Given the description of an element on the screen output the (x, y) to click on. 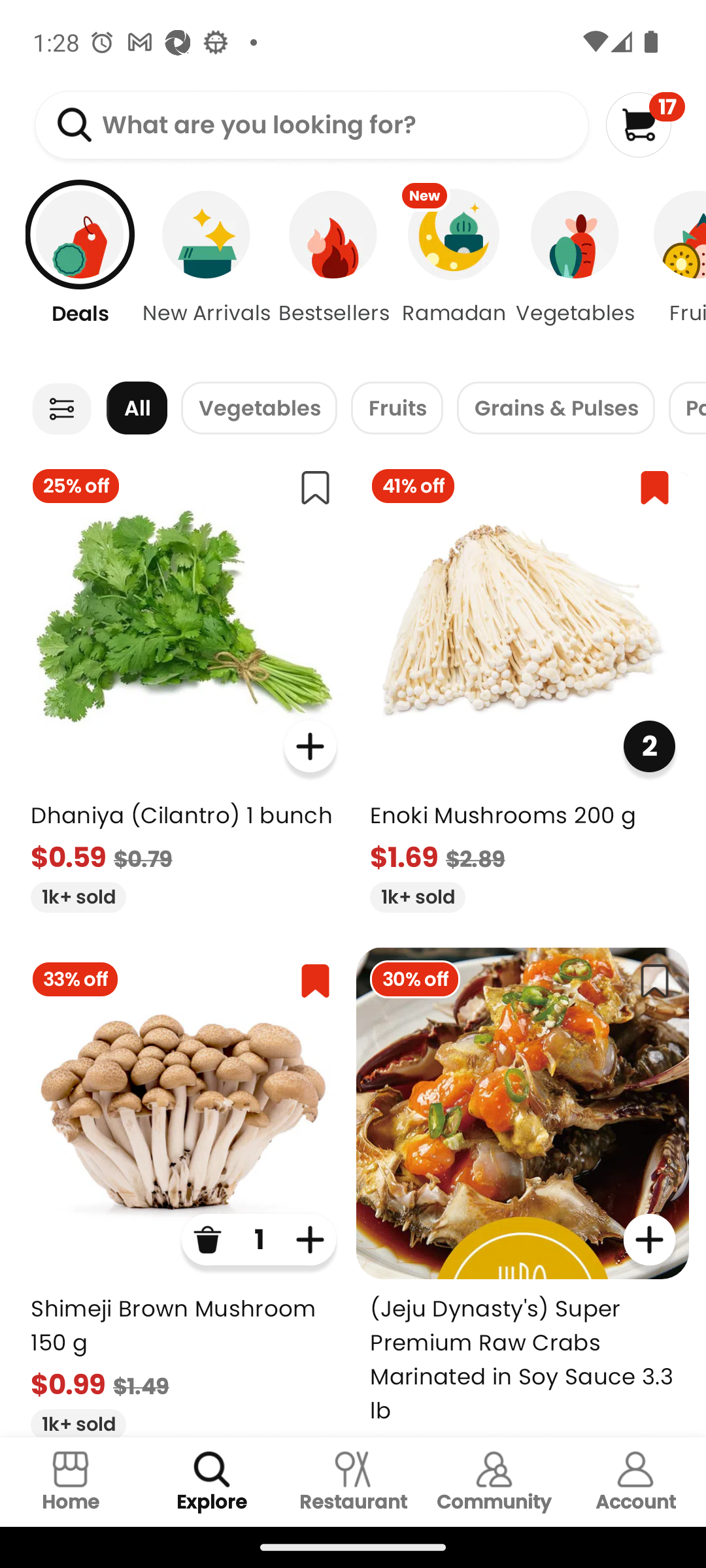
What are you looking for? (311, 124)
17 (644, 124)
Deals (70, 274)
New Arrivals (206, 274)
Bestsellers (333, 274)
New Ramadan (453, 274)
Vegetables (575, 274)
Fruits (671, 274)
All (136, 407)
Vegetables (258, 407)
Fruits (396, 407)
Grains & Pulses (555, 407)
2 (648, 746)
Home (70, 1482)
Explore (211, 1482)
Restaurant (352, 1482)
Community (493, 1482)
Account (635, 1482)
